Given the description of an element on the screen output the (x, y) to click on. 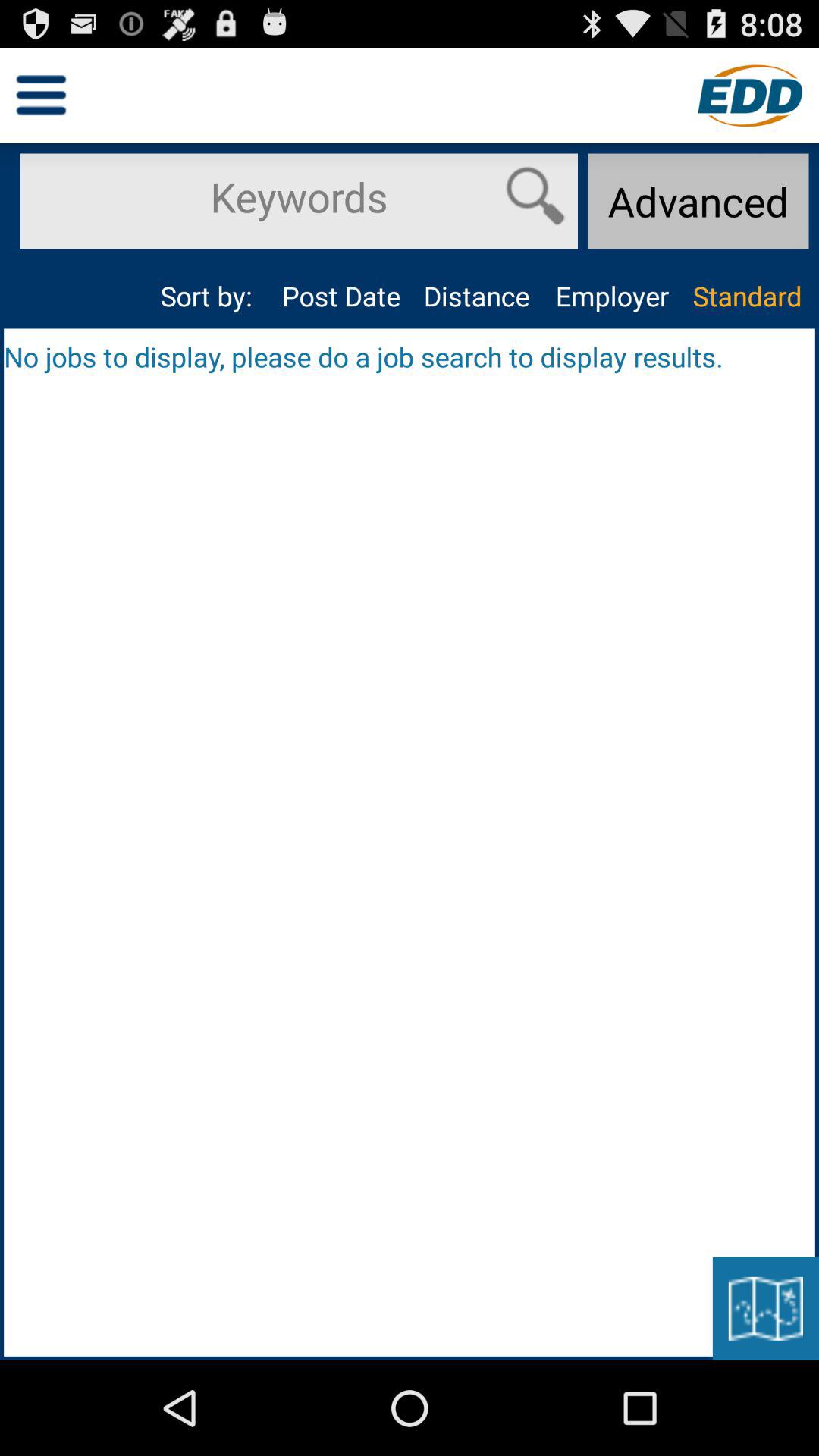
turn on item above the no jobs to item (341, 295)
